Given the description of an element on the screen output the (x, y) to click on. 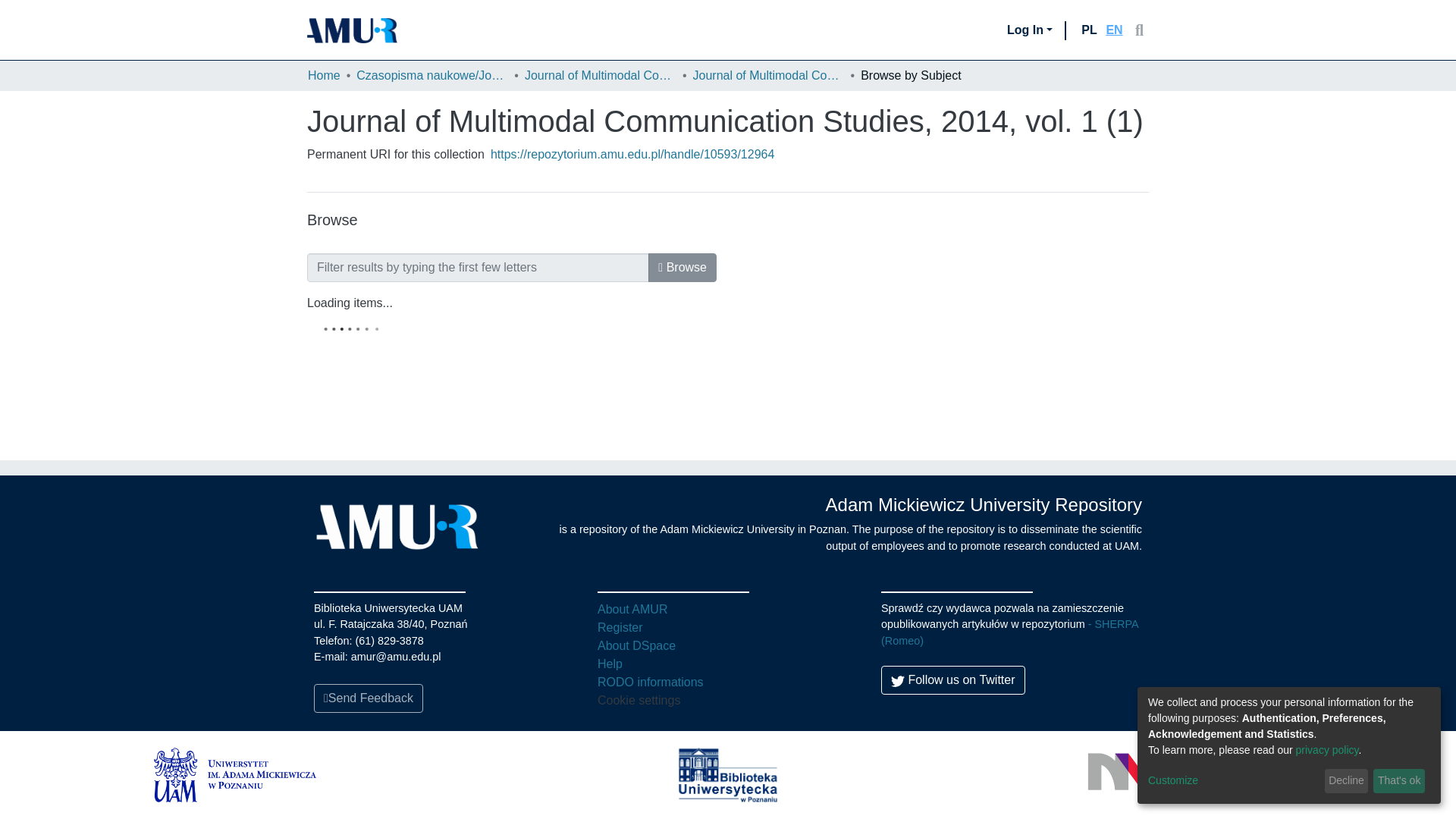
Customize (1233, 780)
About DSpace (635, 645)
Log In (1030, 29)
Register (619, 626)
Send Feedback (368, 697)
privacy policy (1326, 749)
About AMUR (631, 608)
Browse (681, 267)
Help (609, 663)
Search (1138, 30)
